Given the description of an element on the screen output the (x, y) to click on. 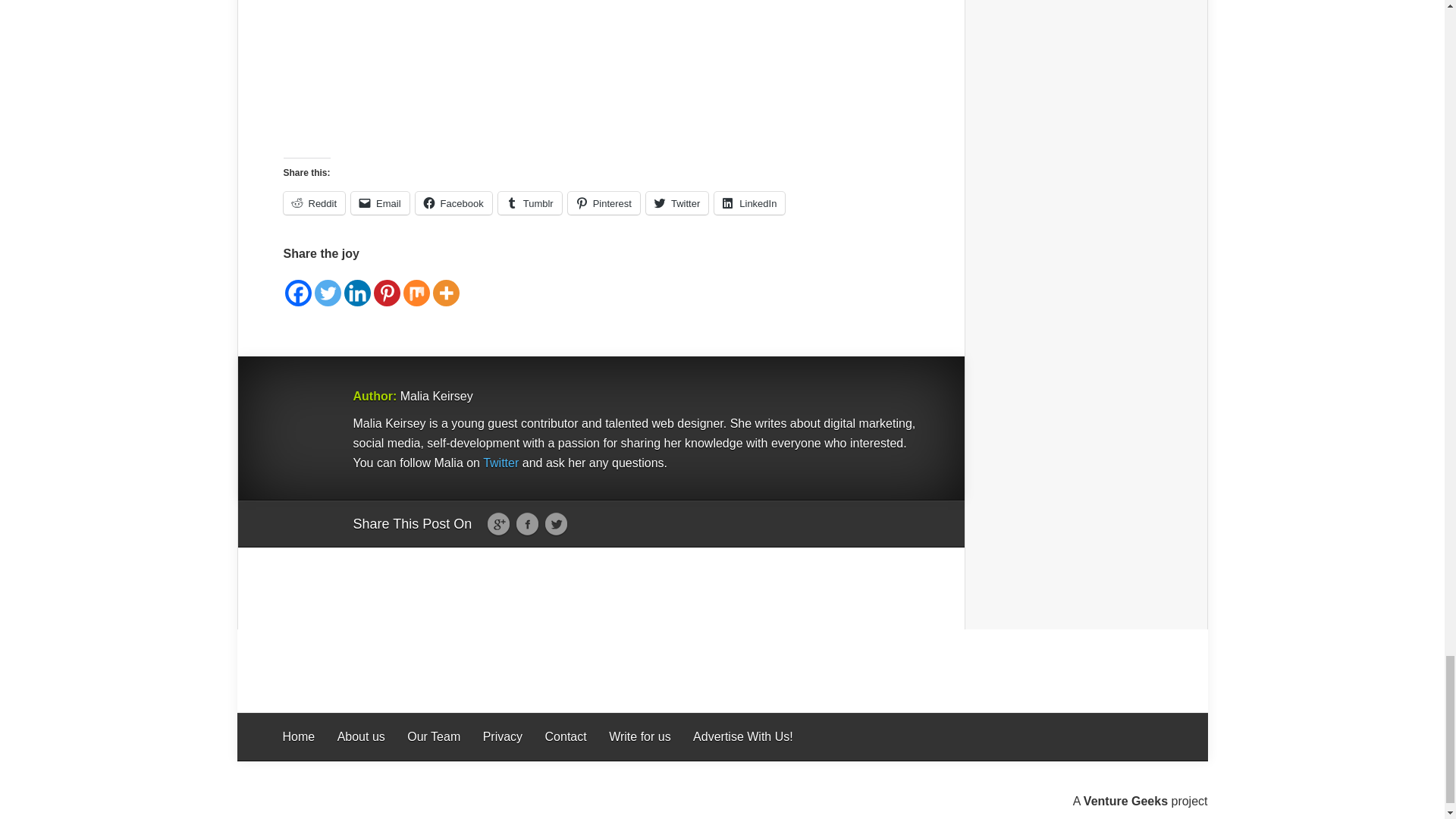
Click to email a link to a friend (379, 202)
Click to share on Facebook (453, 202)
Click to share on Reddit (314, 202)
Click to share on Tumblr (529, 202)
